Given the description of an element on the screen output the (x, y) to click on. 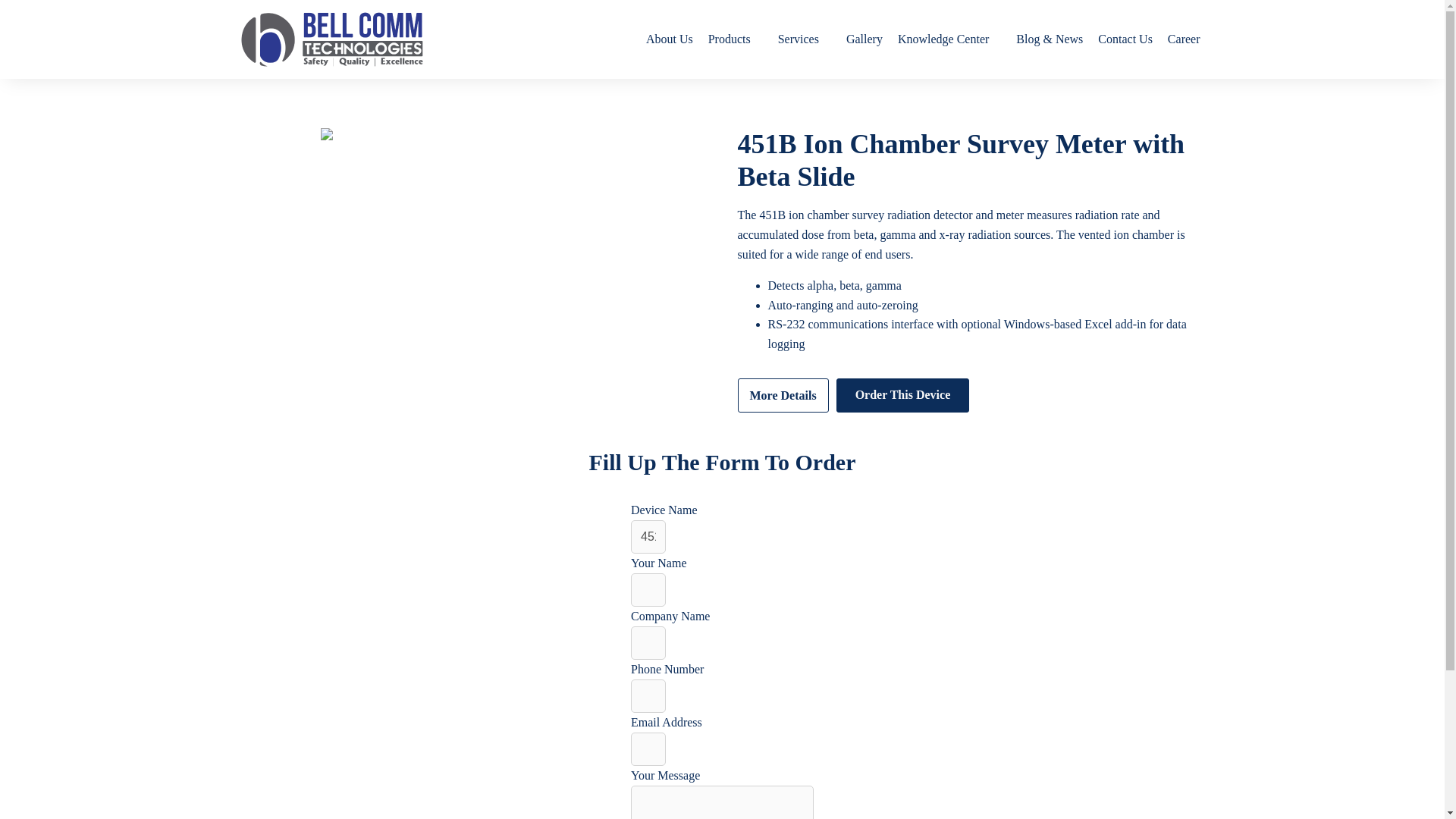
Contact Us (1125, 39)
Career (1184, 39)
Gallery (863, 39)
About Us (669, 39)
More Details (782, 395)
Services (804, 39)
Products (735, 39)
Order This Device (902, 395)
Knowledge Center (949, 39)
451B Ion Chamber Survey Meter with Beta Slide (647, 536)
